Given the description of an element on the screen output the (x, y) to click on. 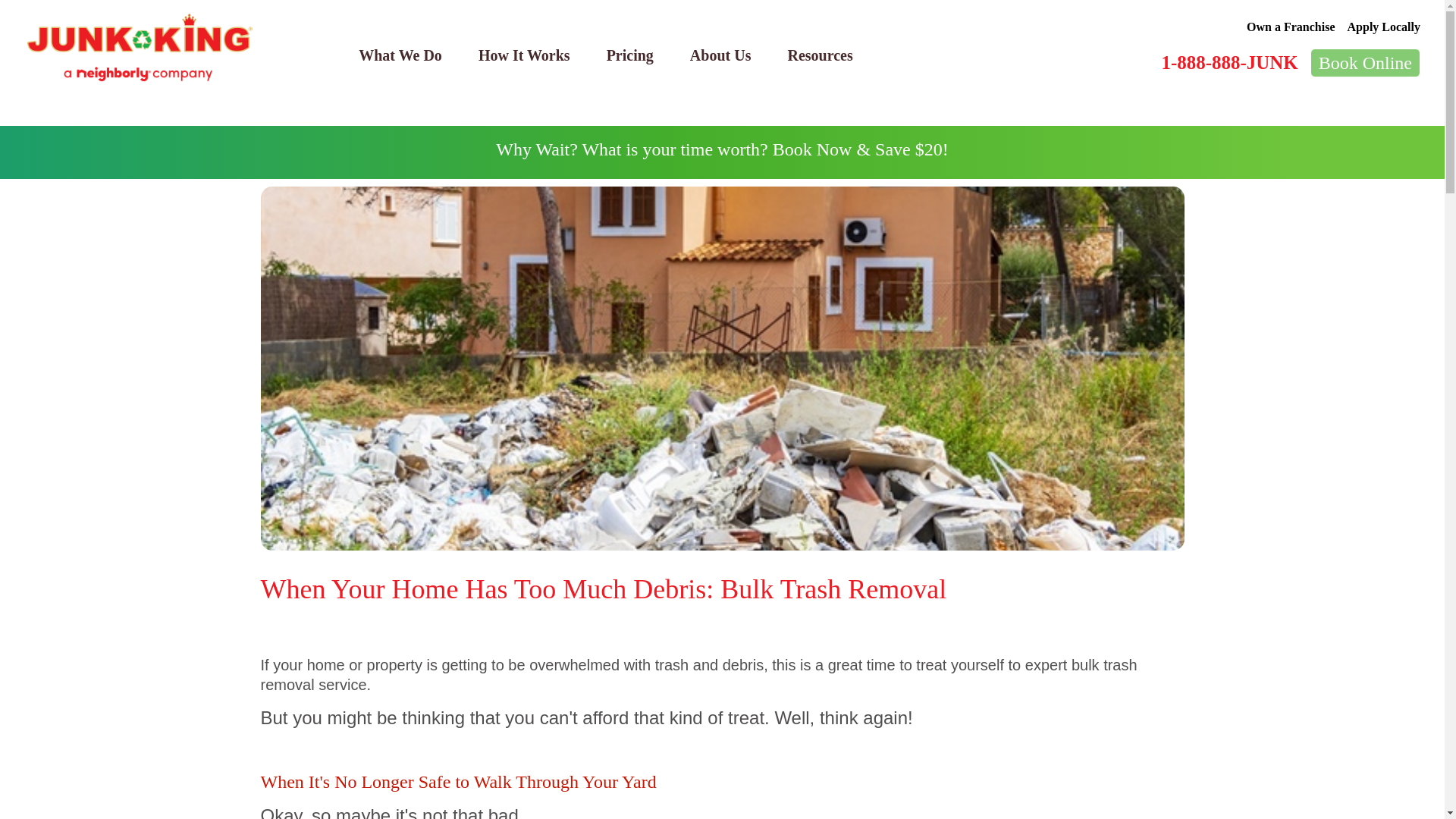
Resources (819, 54)
Apply Locally (1384, 27)
Own a Franchise (1290, 27)
What We Do (400, 54)
1-888-888-JUNK (1228, 62)
Book Online (1365, 62)
About Us (720, 54)
Junk King (139, 47)
Pricing (629, 54)
